Given the description of an element on the screen output the (x, y) to click on. 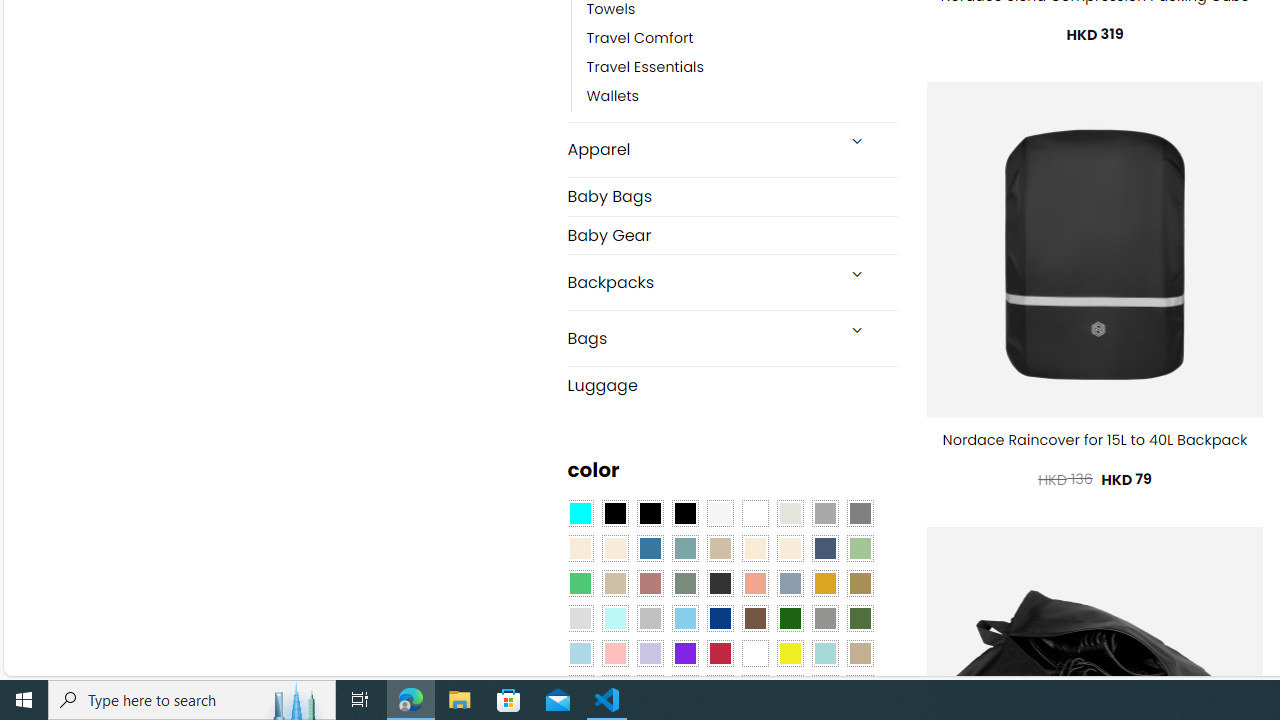
Apparel (700, 150)
Black (650, 514)
Baby Gear (732, 235)
Purple (684, 653)
Pink (614, 653)
Travel Comfort (639, 38)
Wallets (613, 97)
Light Taupe (614, 583)
Brownie (719, 548)
Clear (755, 514)
Baby Bags (732, 196)
Travel Comfort (742, 38)
Luggage (732, 384)
